Given the description of an element on the screen output the (x, y) to click on. 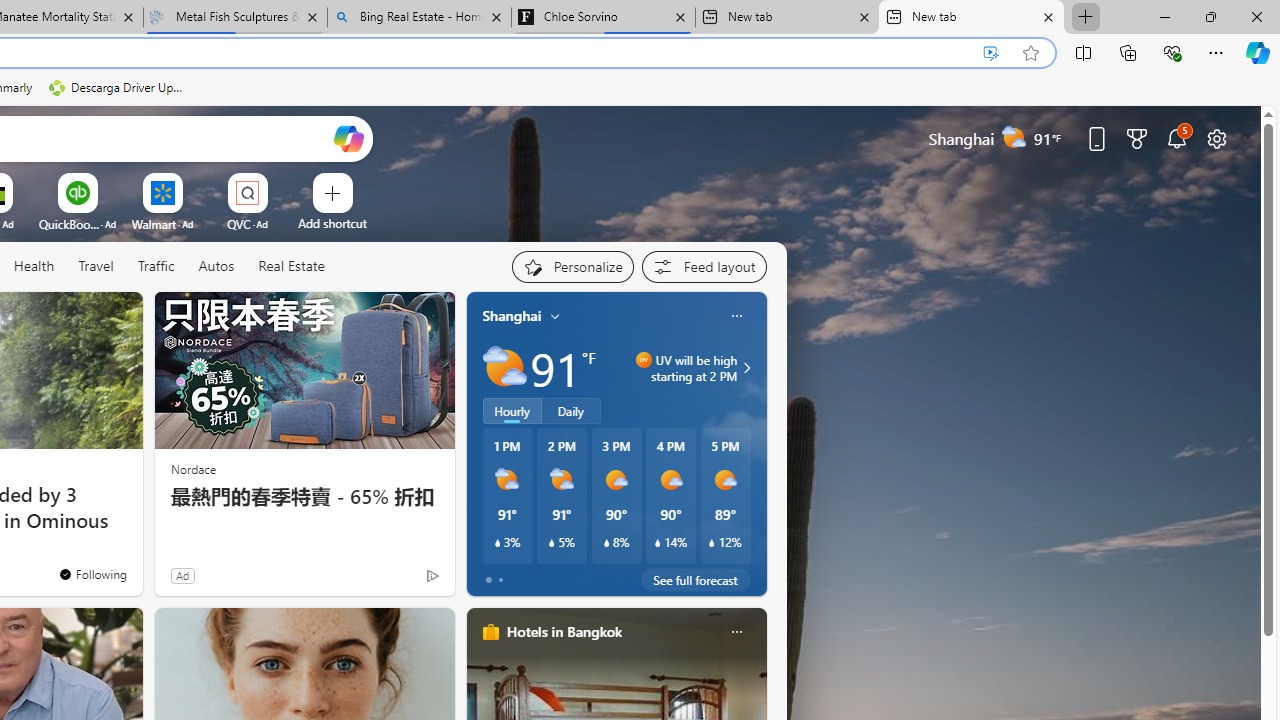
Chloe Sorvino (603, 17)
Page settings (1216, 138)
hotels-header-icon (490, 632)
Class: weather-current-precipitation-glyph (712, 543)
